Given the description of an element on the screen output the (x, y) to click on. 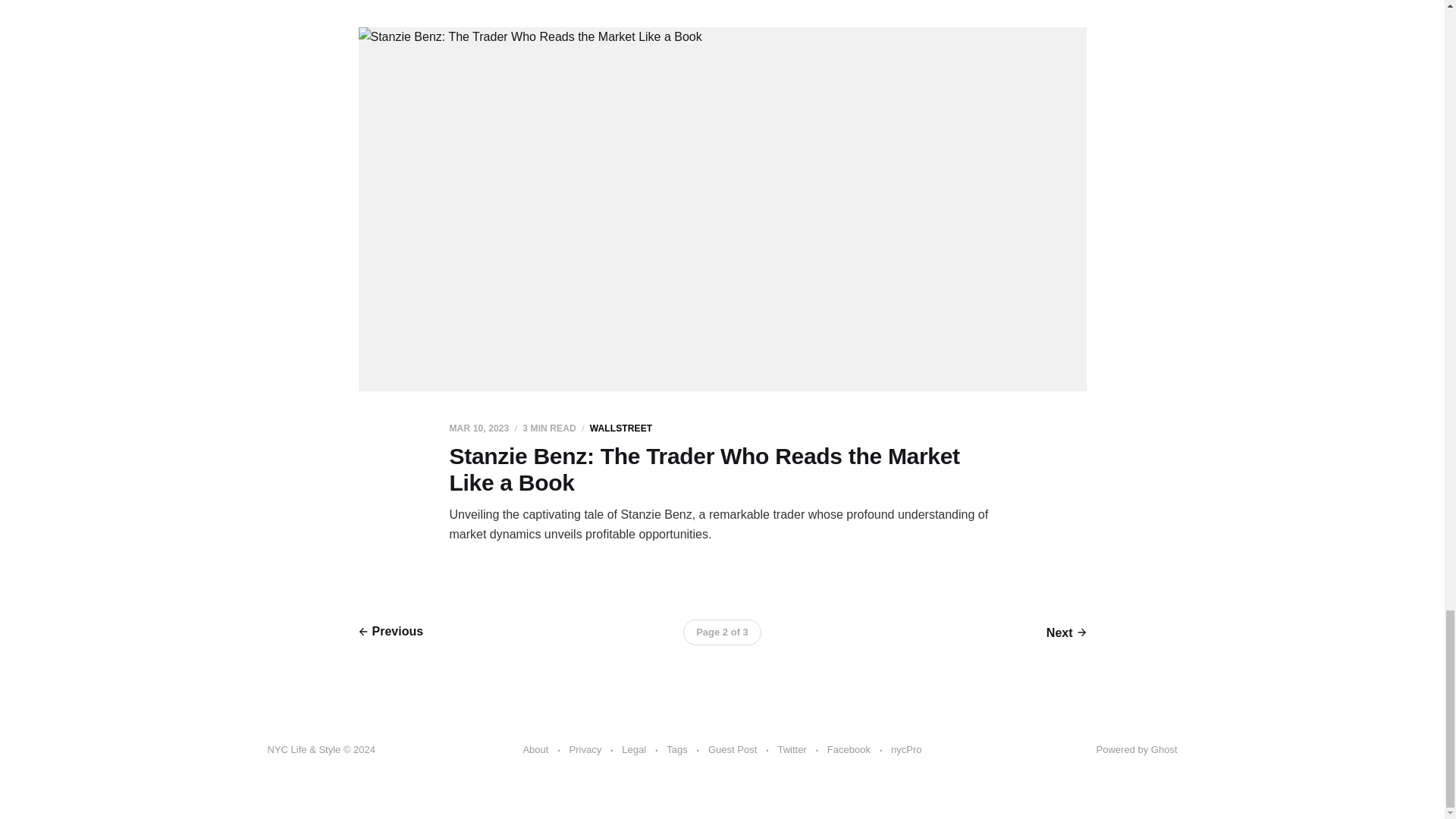
Powered by Ghost (1136, 749)
Privacy (585, 750)
Stanzie Benz: The Trader Who Reads the Market Like a Book (703, 469)
nycPro (906, 750)
Wallstreet (620, 428)
Facebook (848, 750)
Previous (390, 631)
Twitter (791, 750)
Legal (633, 750)
WALLSTREET (620, 428)
